Given the description of an element on the screen output the (x, y) to click on. 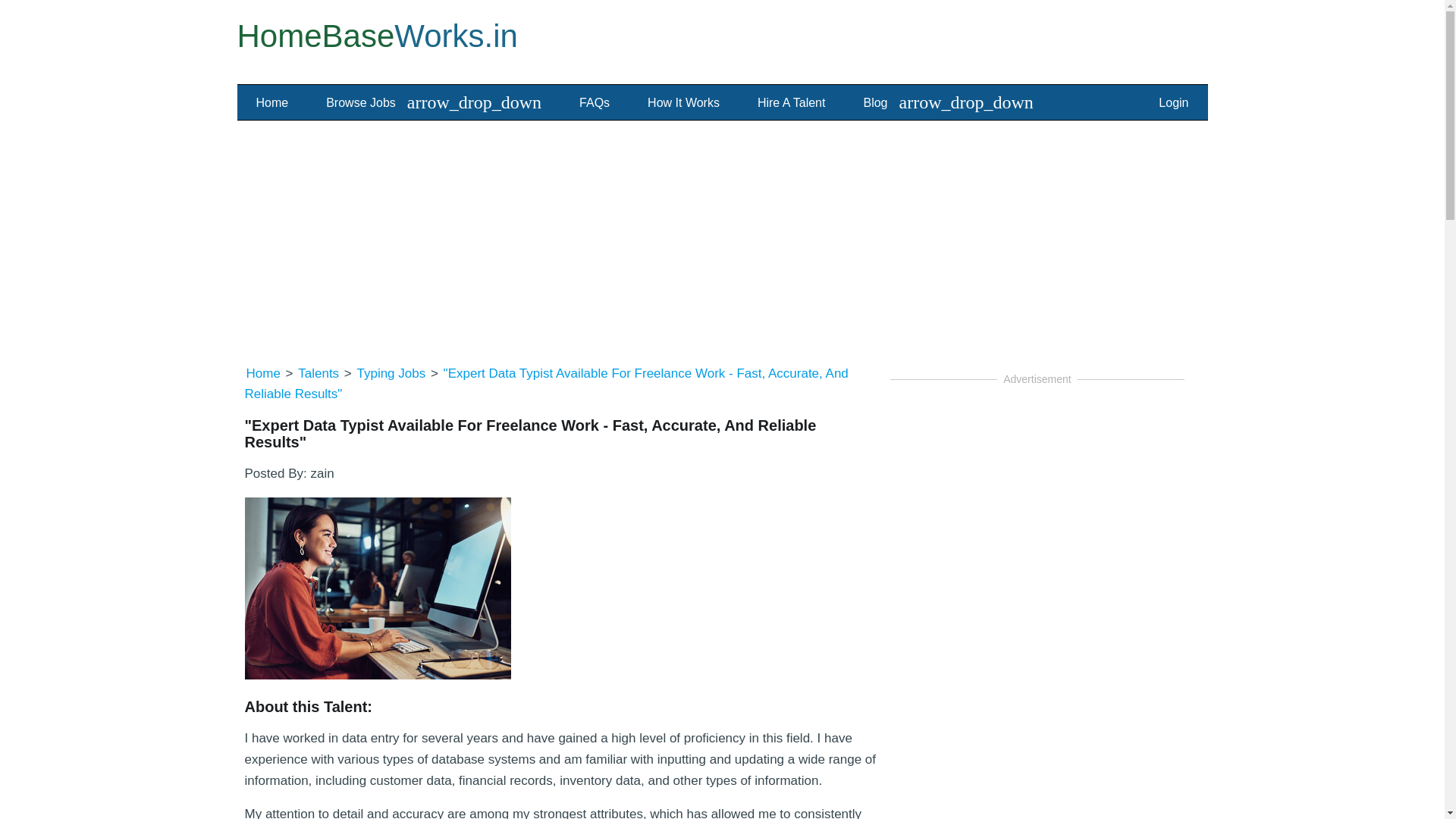
HomeBaseWorks.in (375, 36)
Home (272, 103)
Login (1173, 103)
FAQs (594, 103)
How It Works (683, 103)
Advertisement (1037, 723)
Hire A Talent (790, 103)
